Given the description of an element on the screen output the (x, y) to click on. 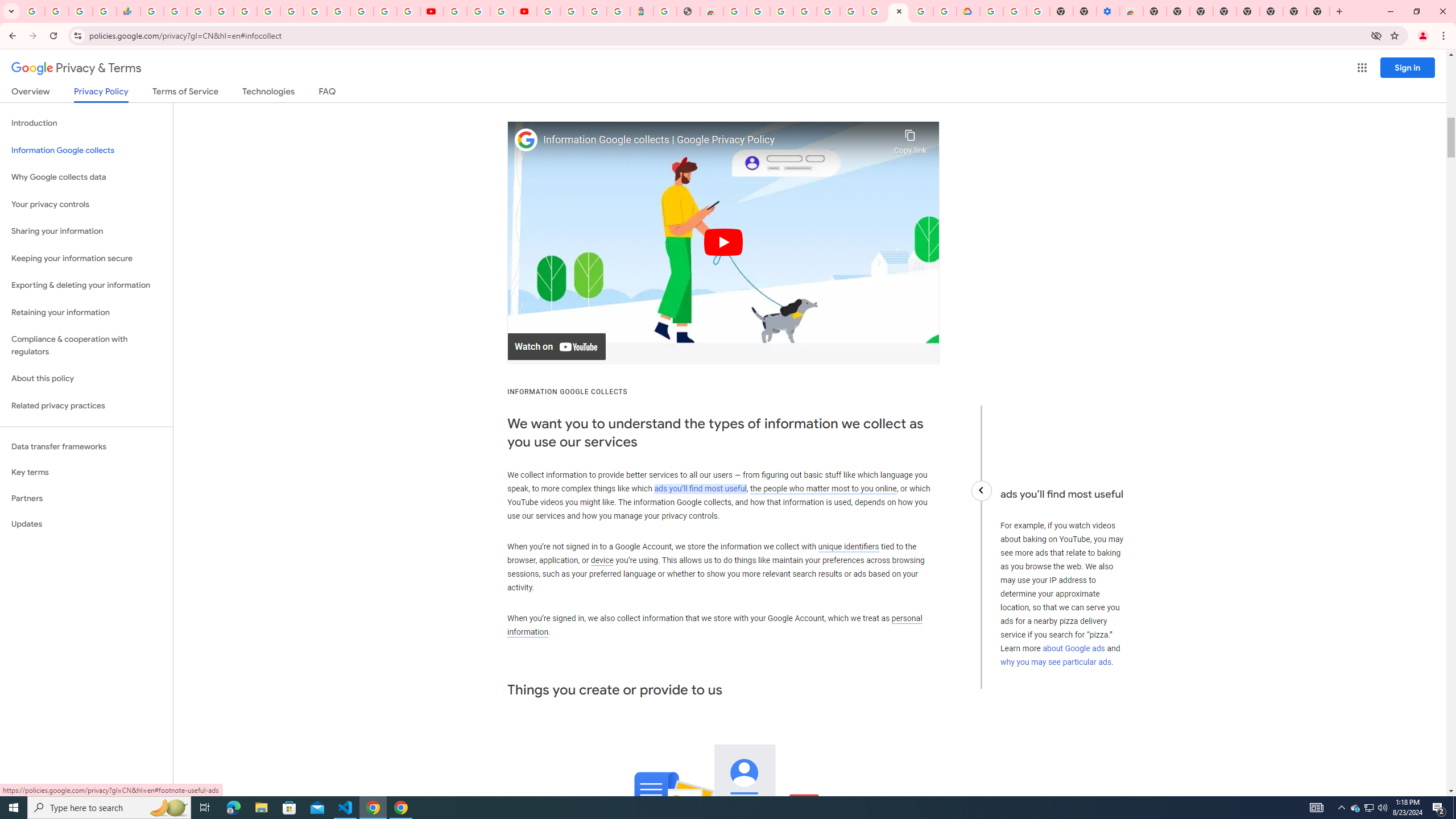
Create your Google Account (921, 11)
Watch on YouTube (556, 346)
about Google ads (1073, 647)
Keeping your information secure (86, 258)
Exporting & deleting your information (86, 284)
Related privacy practices (86, 405)
device (601, 560)
New Tab (1318, 11)
